Given the description of an element on the screen output the (x, y) to click on. 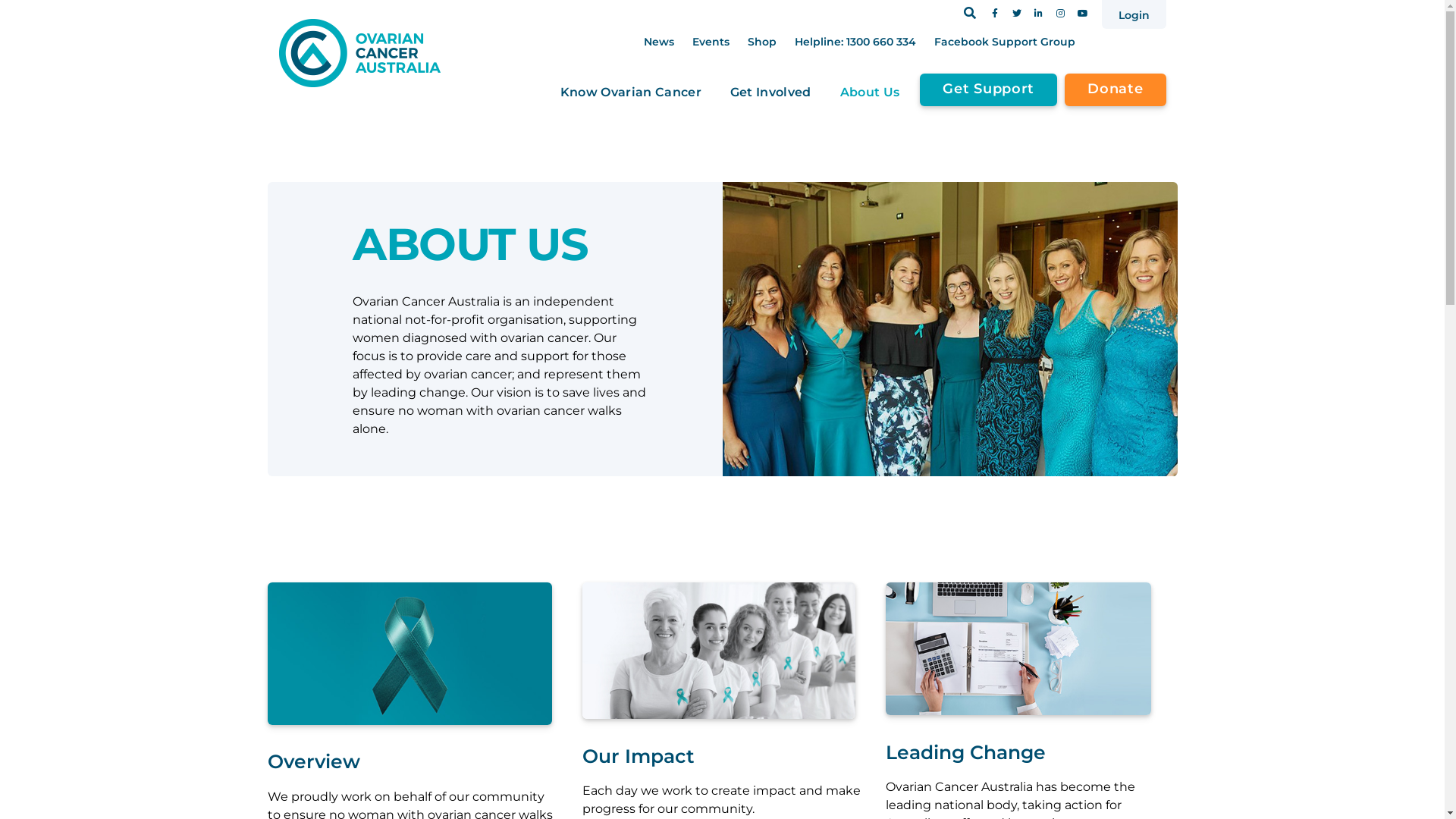
Facebook Support Group Element type: text (1004, 41)
About Us Element type: text (870, 92)
Get Support Element type: text (988, 89)
Login Element type: text (1133, 14)
Events Element type: text (709, 41)
Know Ovarian Cancer Element type: text (630, 92)
News Element type: text (658, 41)
Helpline: 1300 660 334 Element type: text (855, 41)
Donate Element type: text (1114, 89)
Get Involved Element type: text (770, 92)
Shop Element type: text (761, 41)
